Given the description of an element on the screen output the (x, y) to click on. 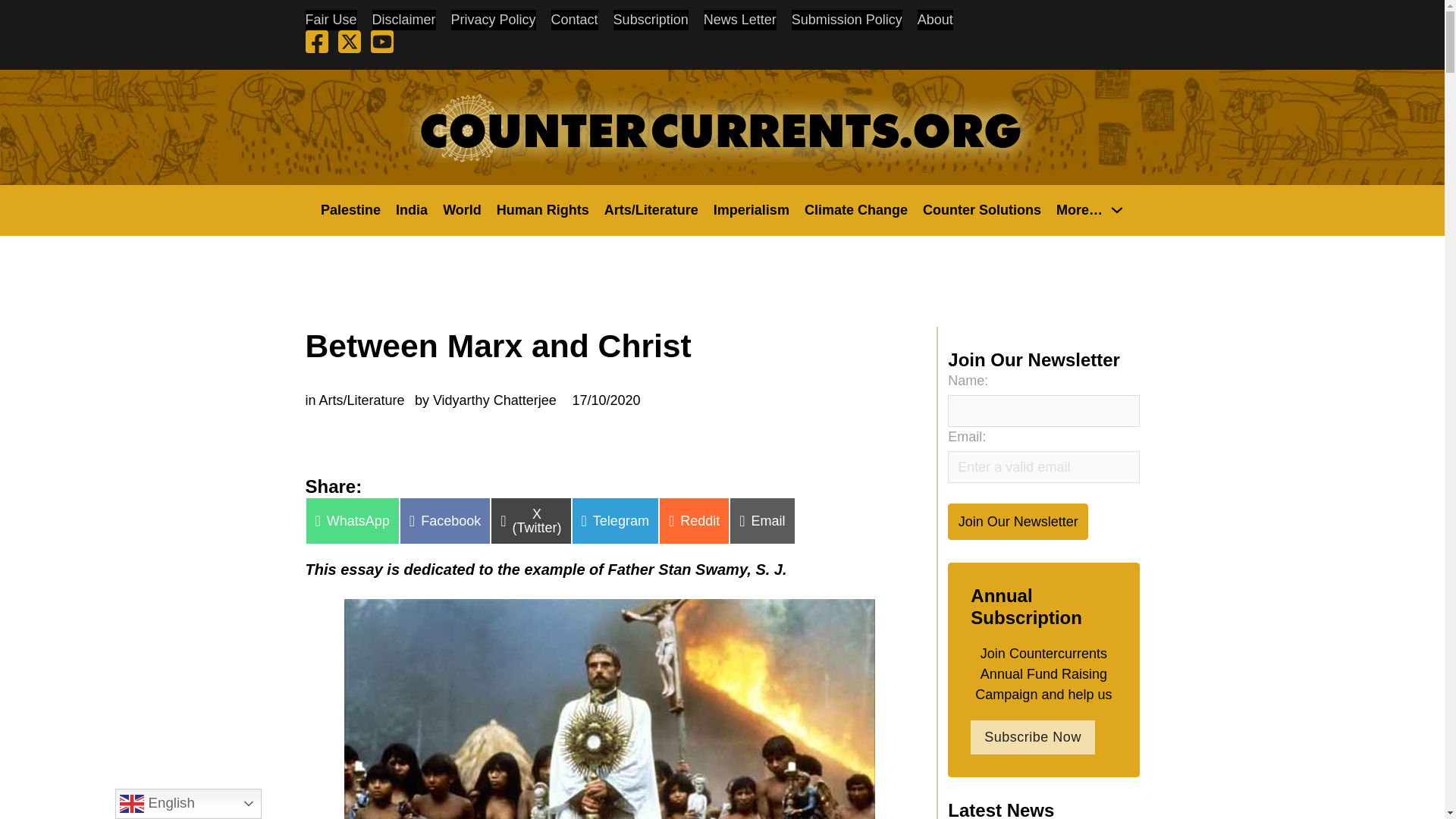
India (412, 209)
About (935, 19)
Disclaimer (403, 19)
Join Our Newsletter (1017, 520)
World (461, 209)
News Letter (739, 19)
Contact (574, 19)
Palestine (350, 209)
Fair Use (330, 19)
Privacy Policy (493, 19)
